Given the description of an element on the screen output the (x, y) to click on. 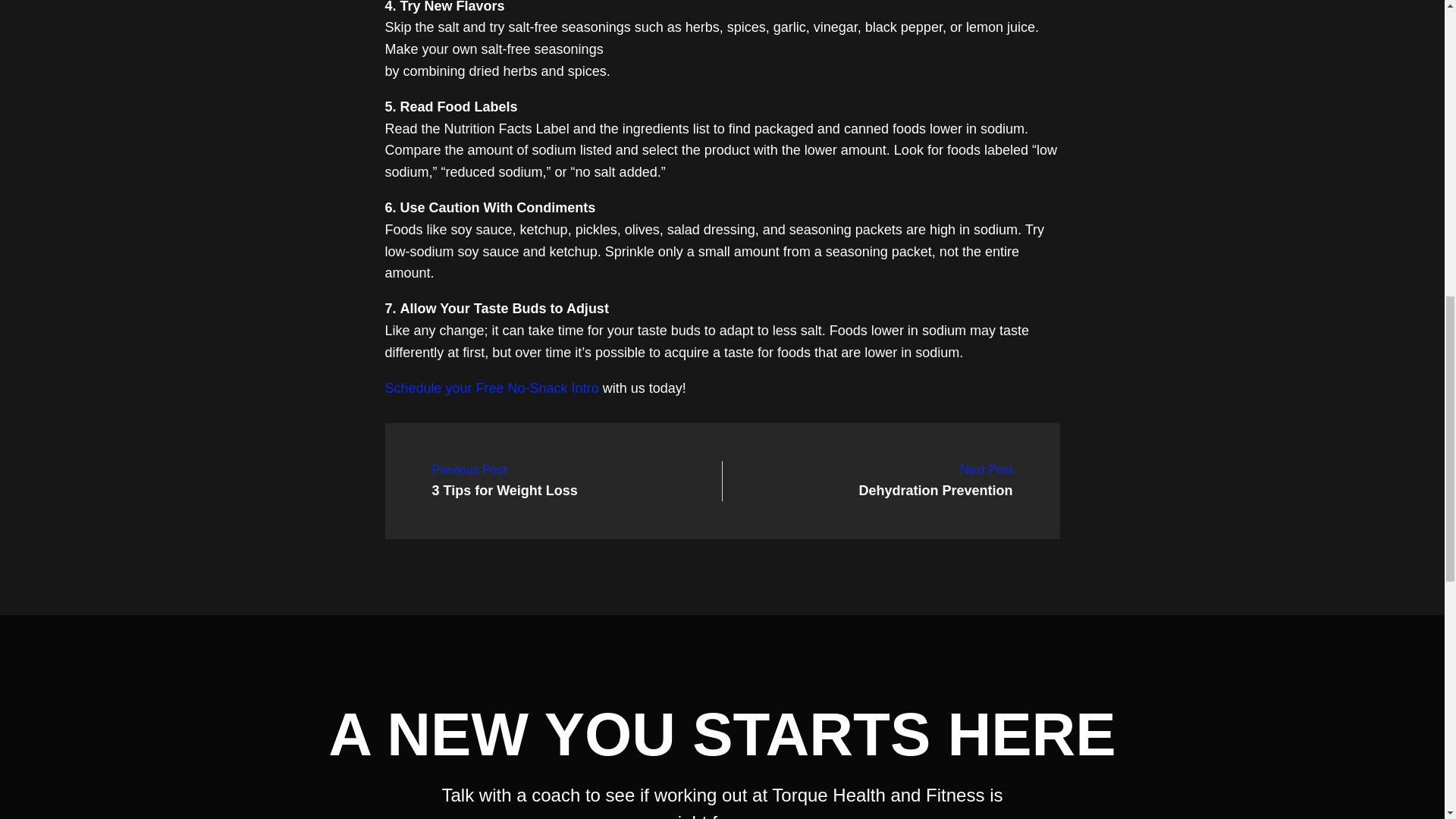
3 Tips for Weight Loss (505, 480)
Dehydration Prevention (505, 480)
Schedule your Free No-Snack Intro (935, 480)
